Given the description of an element on the screen output the (x, y) to click on. 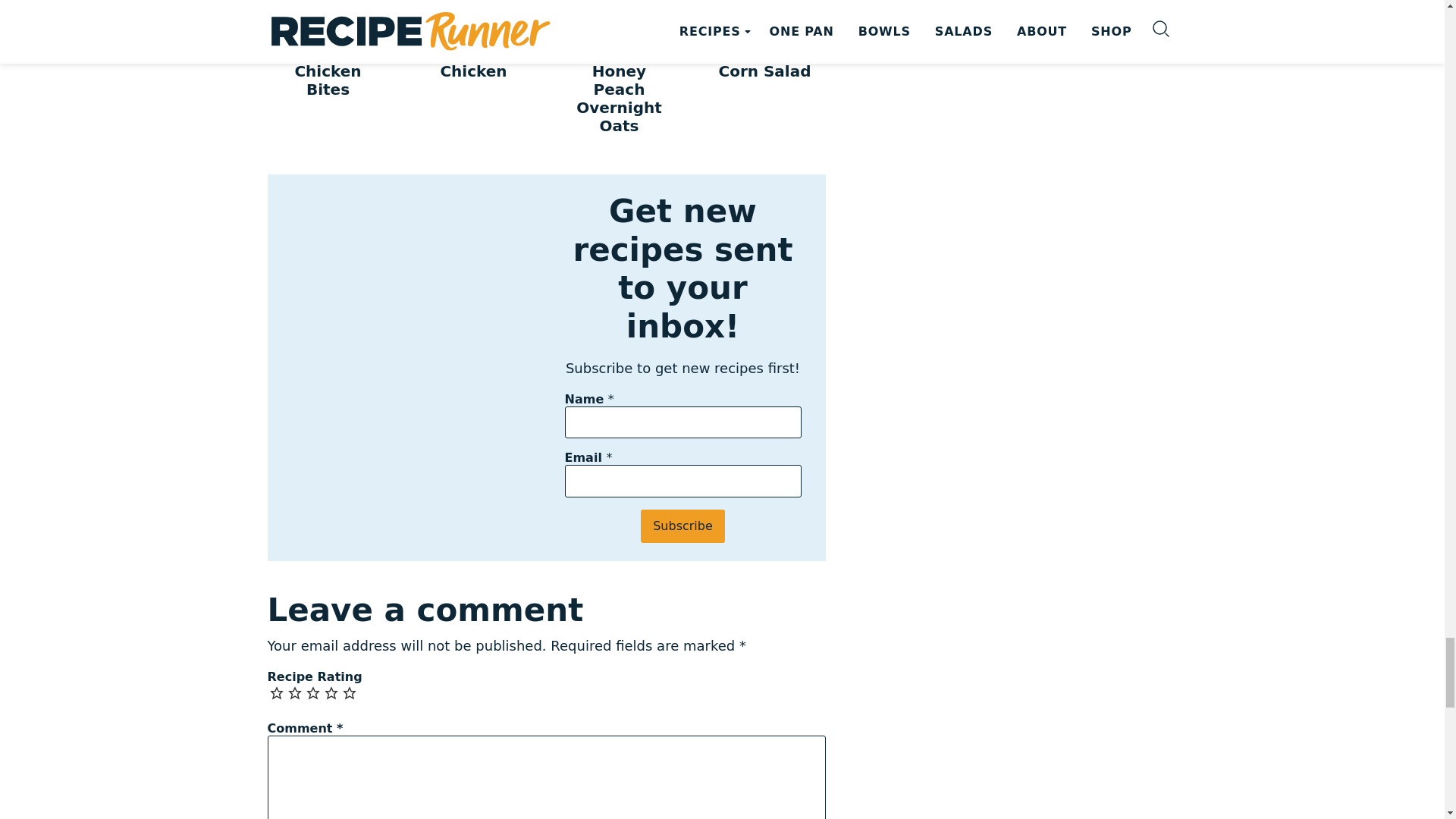
paleo (357, 27)
low carb (338, 27)
Gluten Free (298, 27)
Dairy Free (317, 27)
